Given the description of an element on the screen output the (x, y) to click on. 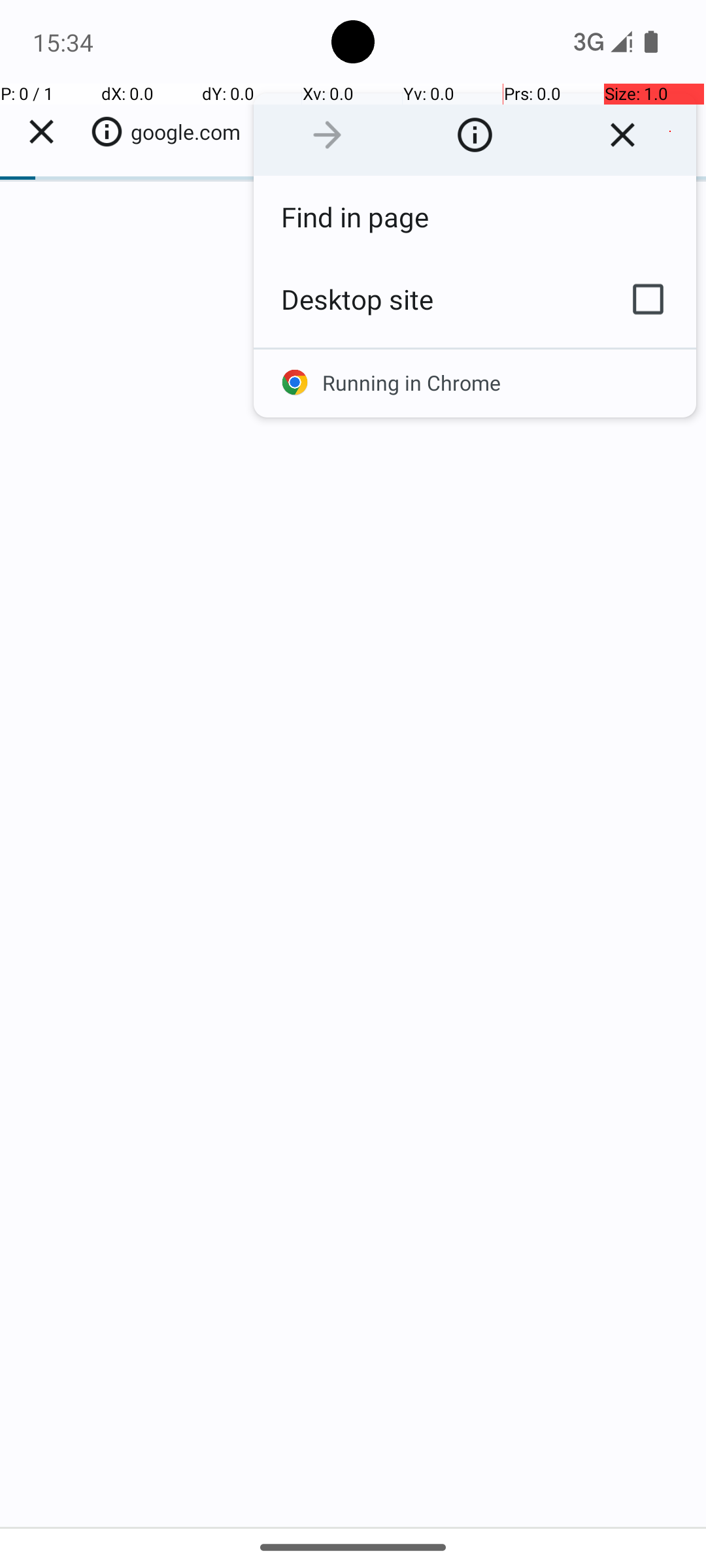
Running in Chrome Element type: android.widget.TextView (474, 382)
Go forward Element type: android.widget.ImageButton (326, 134)
View site information Element type: android.widget.ImageButton (474, 134)
Stop refreshing Element type: android.widget.ImageButton (622, 134)
Find in page Element type: android.widget.TextView (474, 216)
Desktop site Element type: android.widget.TextView (426, 299)
